Given the description of an element on the screen output the (x, y) to click on. 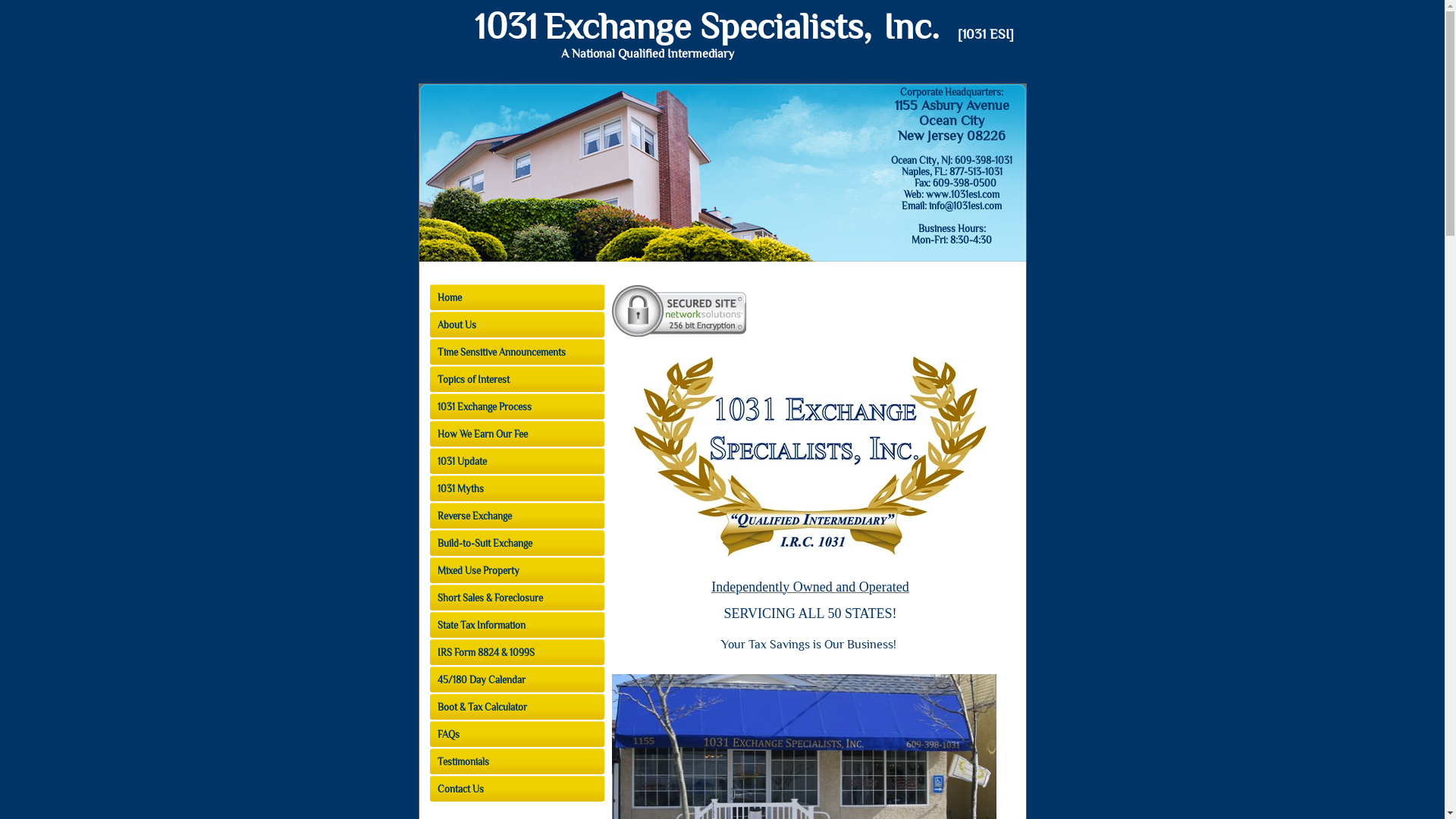
45/180 Day Calendar Element type: text (516, 679)
Build-to-Suit Exchange Element type: text (516, 543)
1031 Update Element type: text (516, 461)
Testimonials Element type: text (516, 761)
How We Earn Our Fee Element type: text (516, 433)
State Tax Information Element type: text (516, 624)
Home Element type: text (516, 297)
Contact Us Element type: text (516, 788)
Time Sensitive Announcements Element type: text (516, 351)
1031 Exchange Process Element type: text (516, 406)
Short Sales & Foreclosure Element type: text (516, 597)
IRS Form 8824 & 1099S Element type: text (516, 652)
Reverse Exchange Element type: text (516, 515)
Topics of Interest Element type: text (516, 379)
FAQs Element type: text (516, 734)
Boot & Tax Calculator Element type: text (516, 706)
1031 Myths Element type: text (516, 488)
About Us Element type: text (516, 324)
Mixed Use Property Element type: text (516, 570)
